Given the description of an element on the screen output the (x, y) to click on. 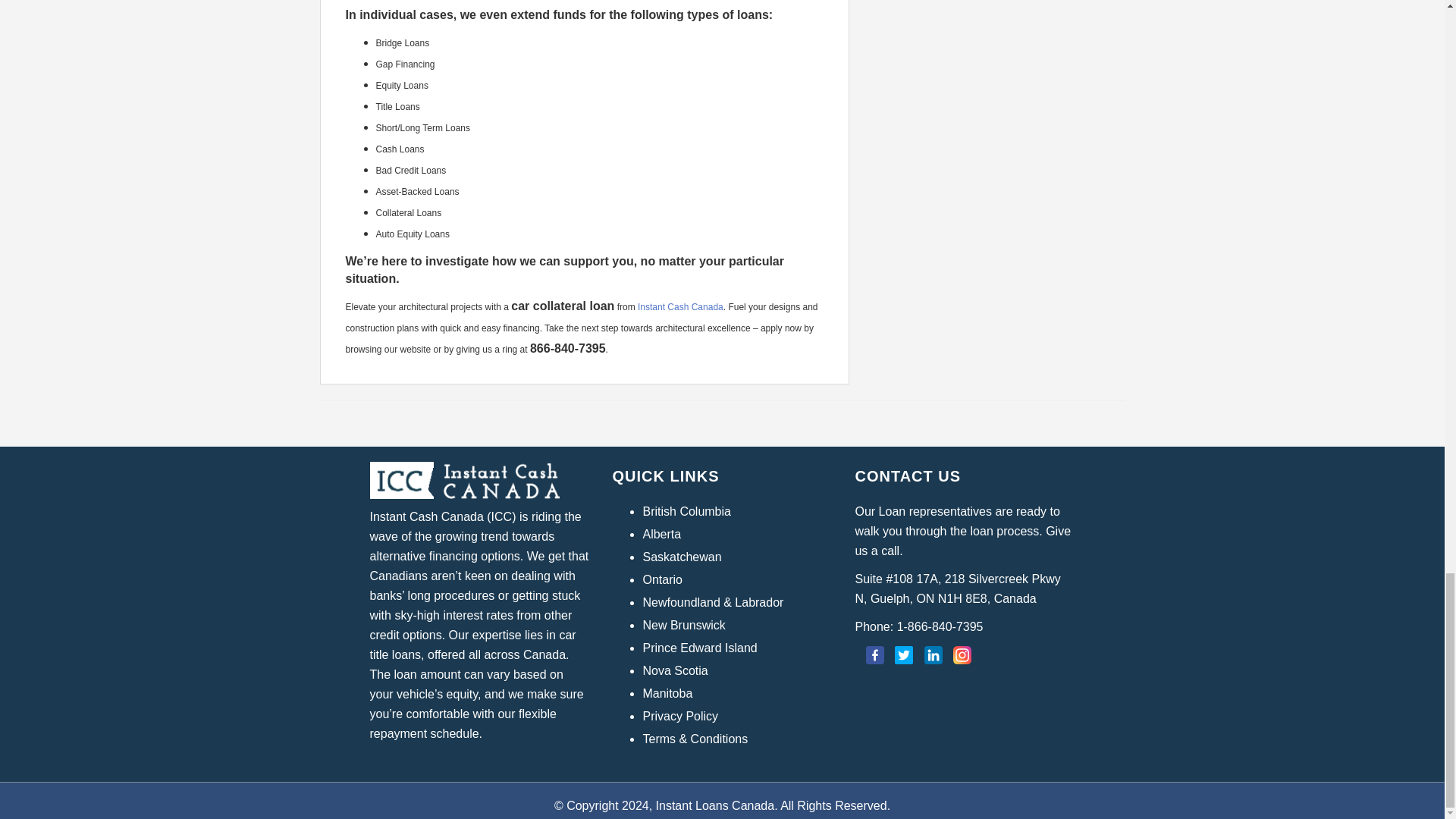
Instant Cash Canada (680, 305)
